Given the description of an element on the screen output the (x, y) to click on. 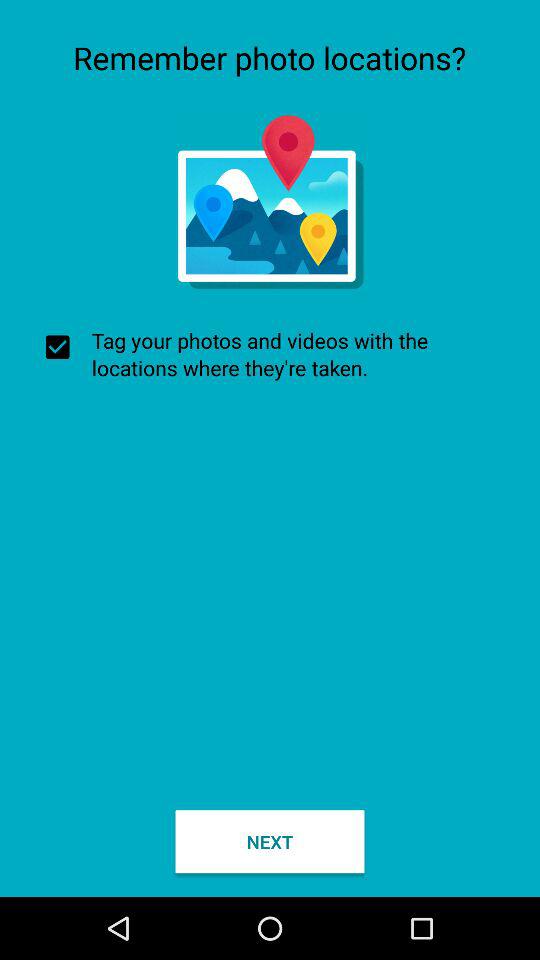
launch item above the next button (269, 354)
